Given the description of an element on the screen output the (x, y) to click on. 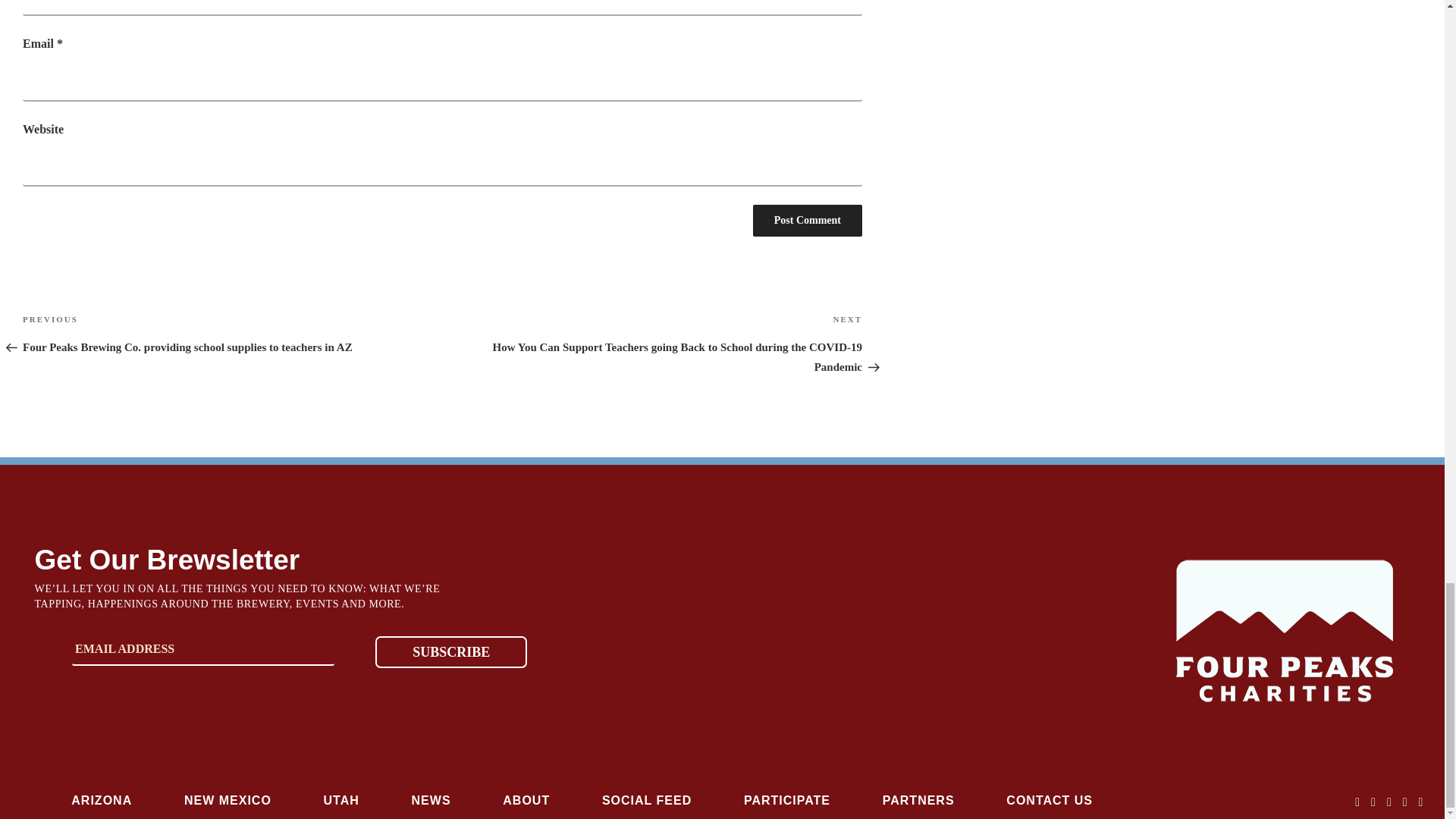
Post Comment (806, 220)
SUBSCRIBE (451, 652)
